Given the description of an element on the screen output the (x, y) to click on. 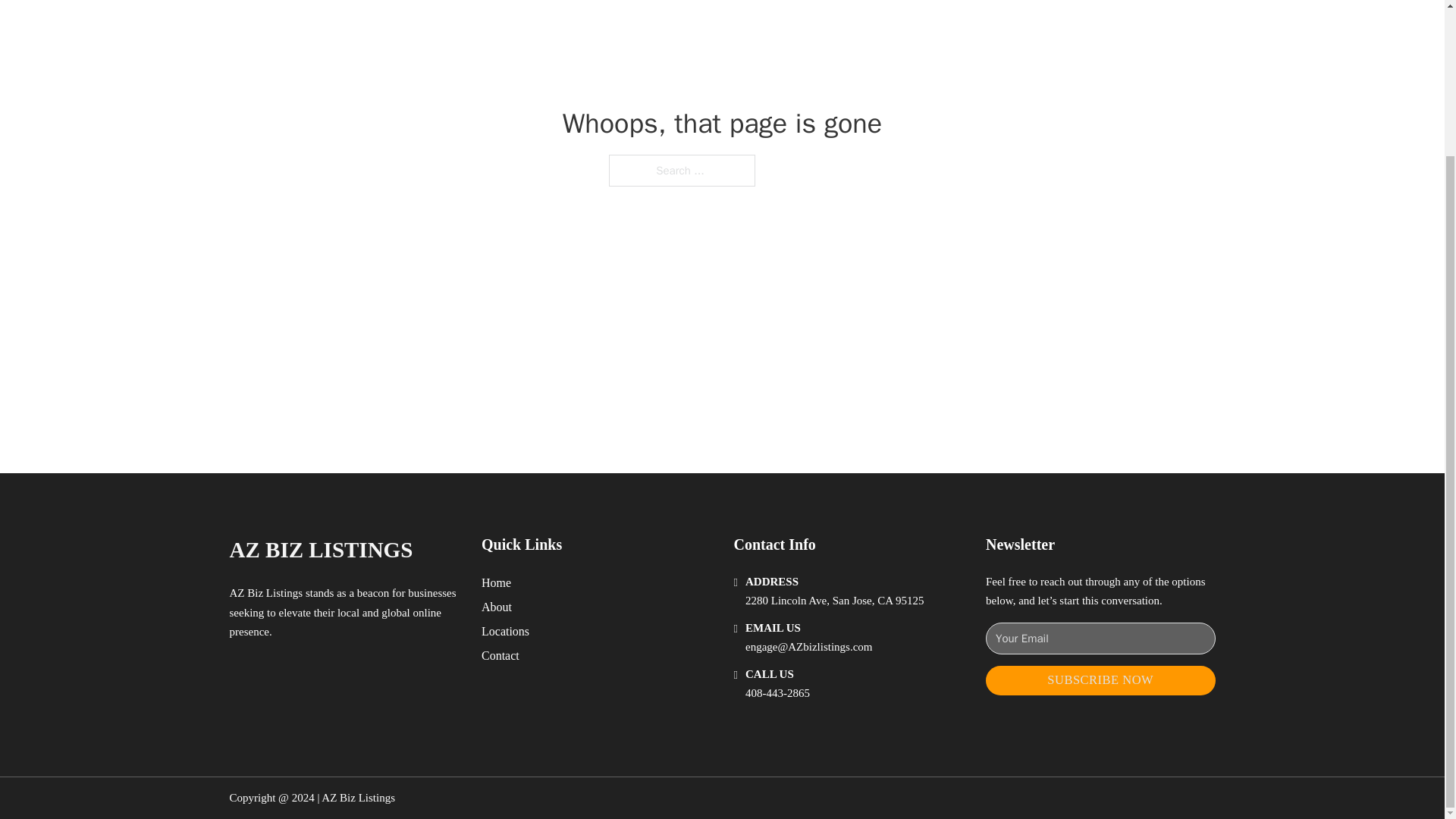
Home (496, 582)
AZ BIZ LISTINGS (320, 549)
408-443-2865 (777, 693)
About (496, 607)
SUBSCRIBE NOW (1100, 680)
Contact (500, 655)
Locations (505, 630)
